Given the description of an element on the screen output the (x, y) to click on. 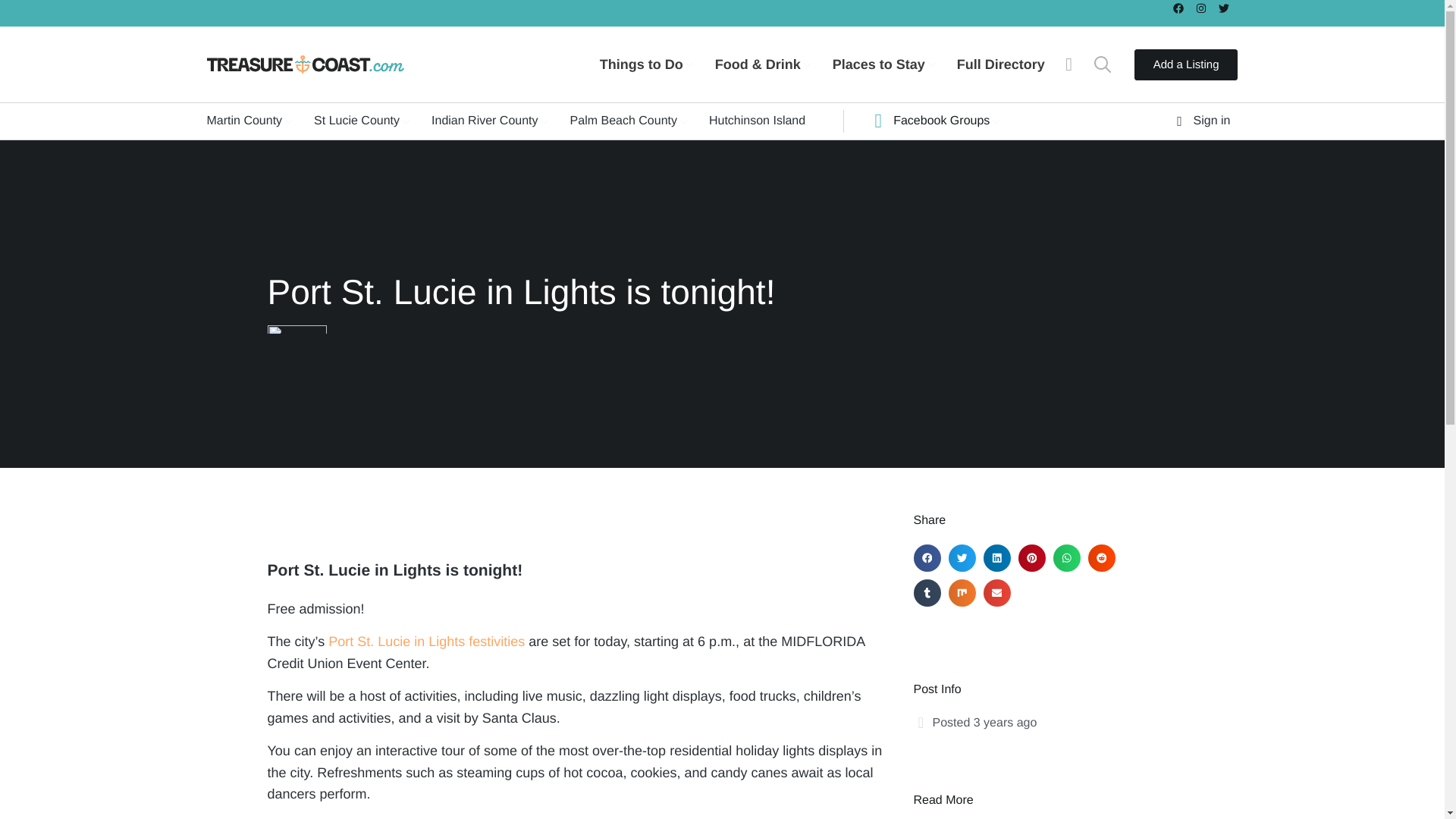
Facebook Groups (944, 120)
